Given the description of an element on the screen output the (x, y) to click on. 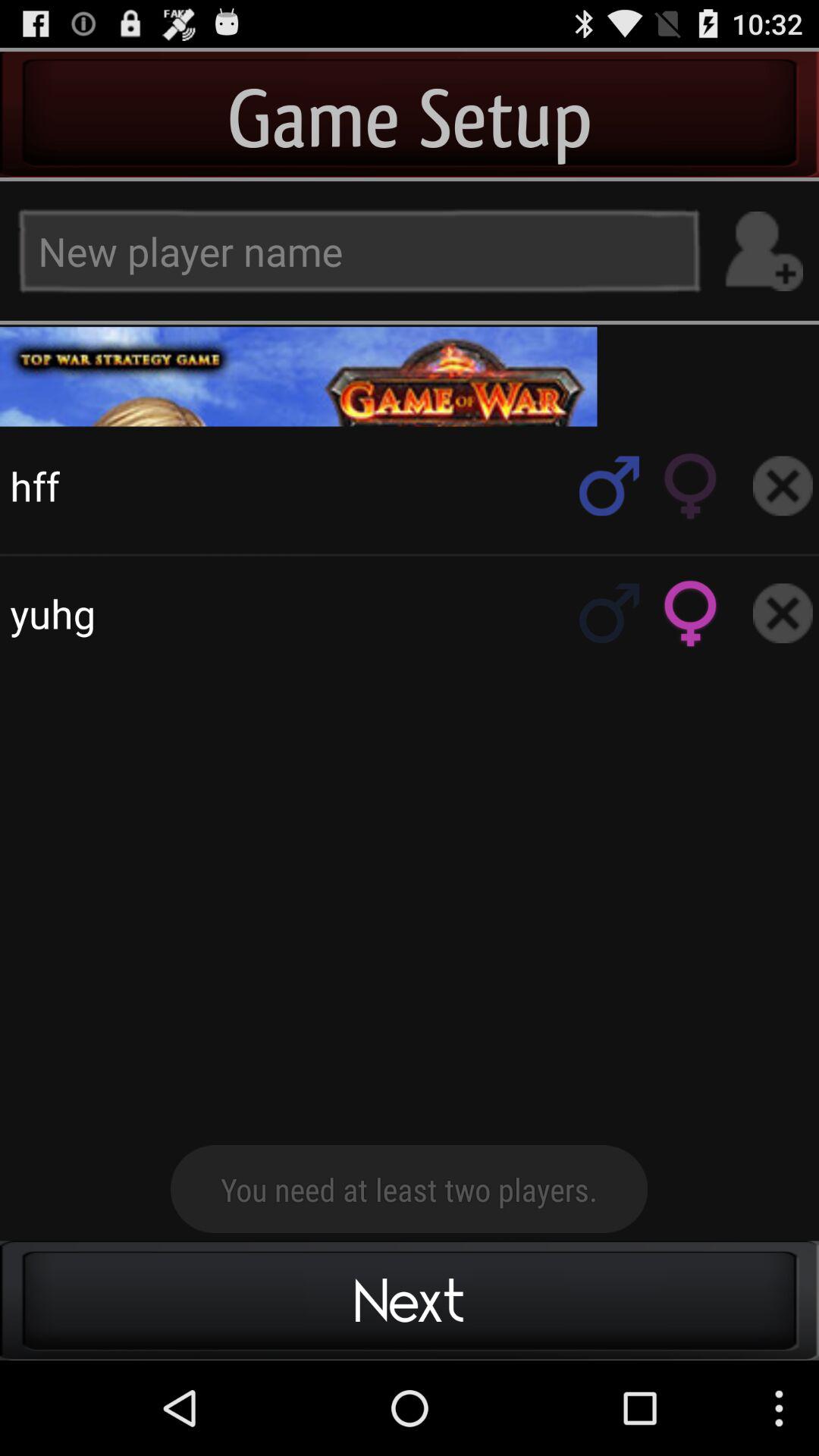
toggle gender (690, 485)
